Given the description of an element on the screen output the (x, y) to click on. 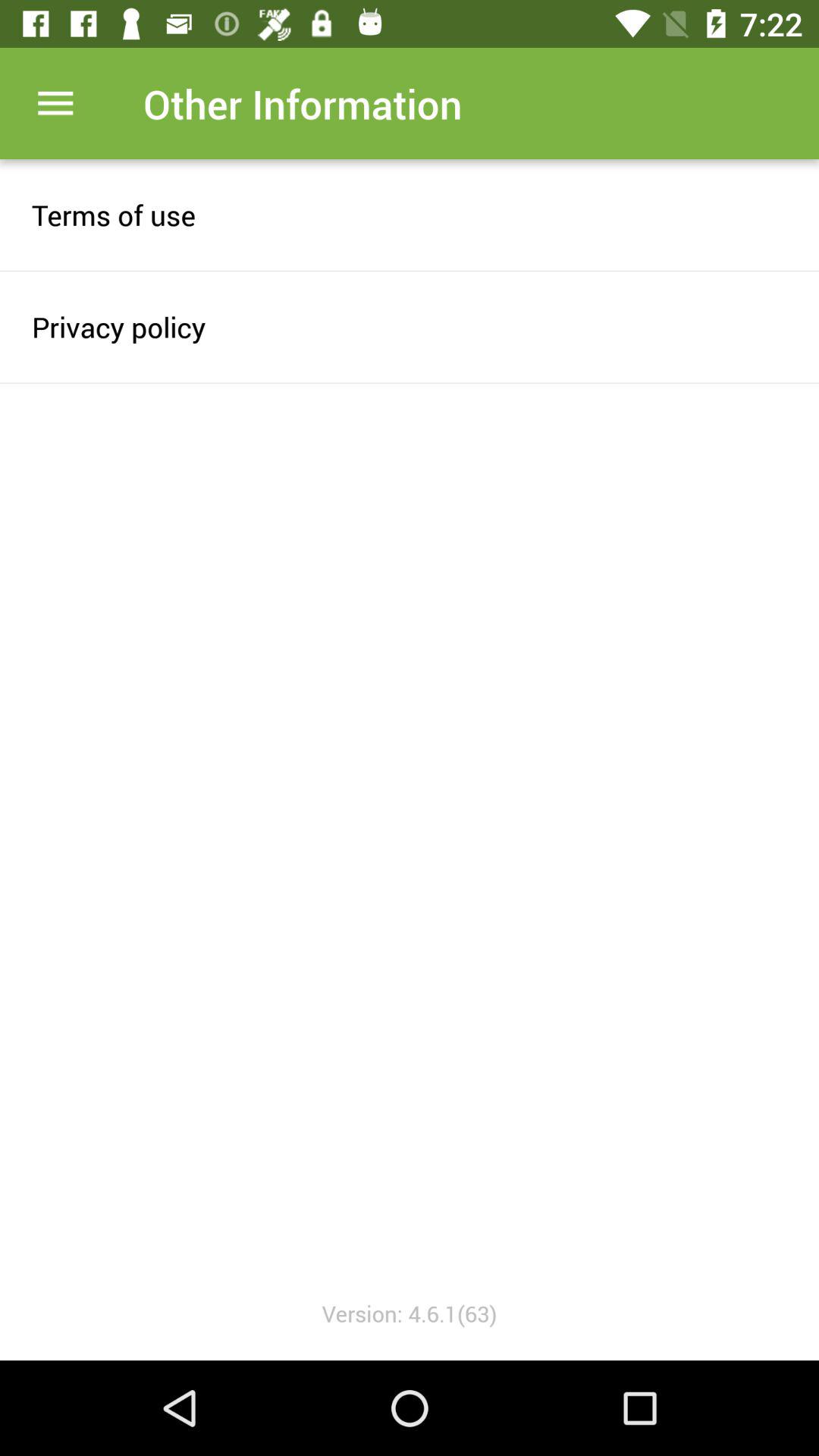
swipe until the terms of use (409, 214)
